Given the description of an element on the screen output the (x, y) to click on. 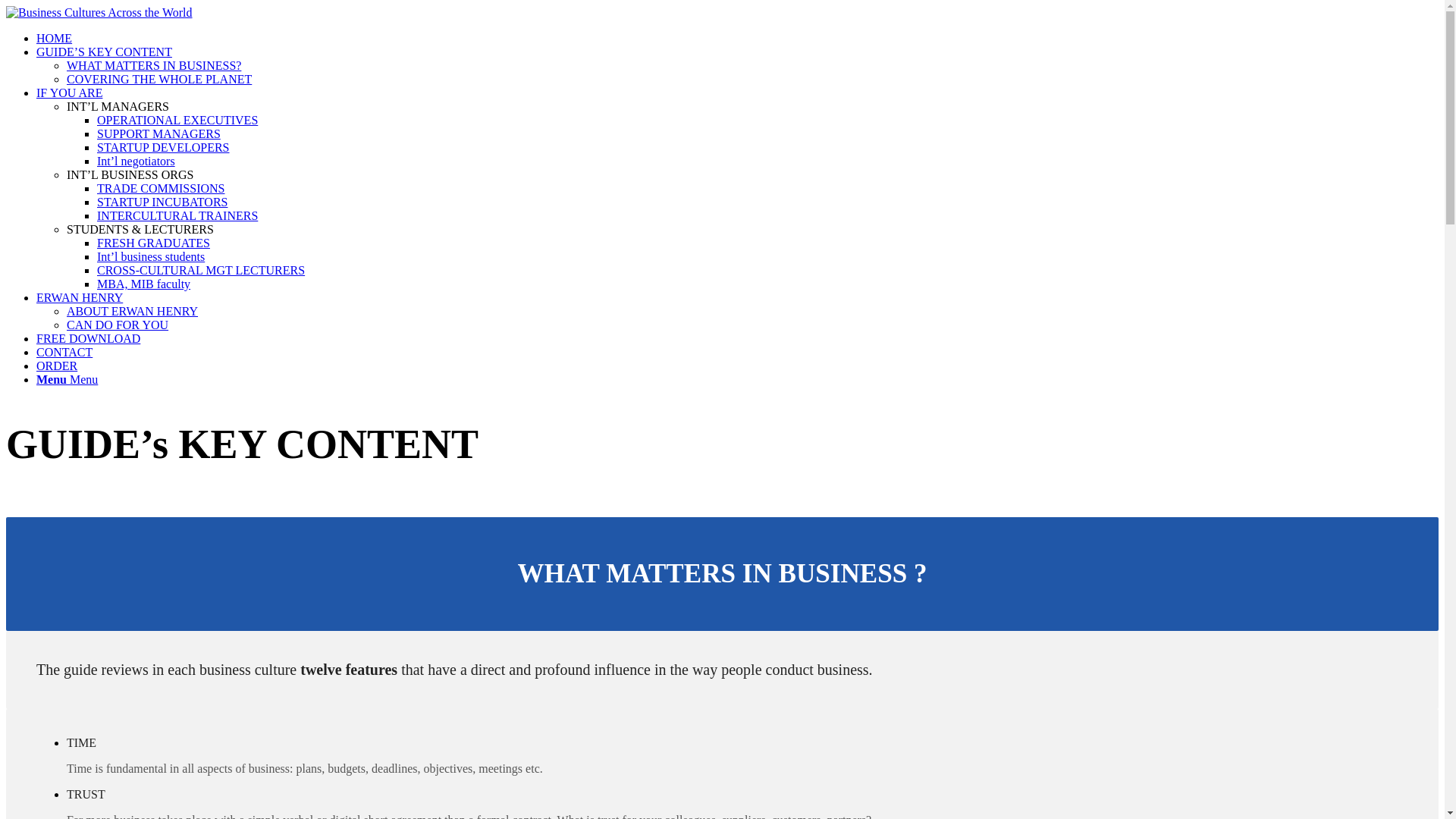
SUPPORT MANAGERS (159, 133)
WHAT MATTERS IN BUSINESS? (153, 65)
FRESH GRADUATES (153, 242)
ERWAN HENRY (79, 297)
IF YOU ARE (68, 92)
HOME (53, 38)
CAN DO FOR YOU (117, 324)
ABOUT ERWAN HENRY (132, 310)
TRADE COMMISSIONS (160, 187)
Menu Menu (66, 379)
OPERATIONAL EXECUTIVES (177, 119)
STARTUP DEVELOPERS (163, 146)
CONTACT (64, 351)
STARTUP INCUBATORS (162, 201)
MBA, MIB faculty (143, 283)
